Given the description of an element on the screen output the (x, y) to click on. 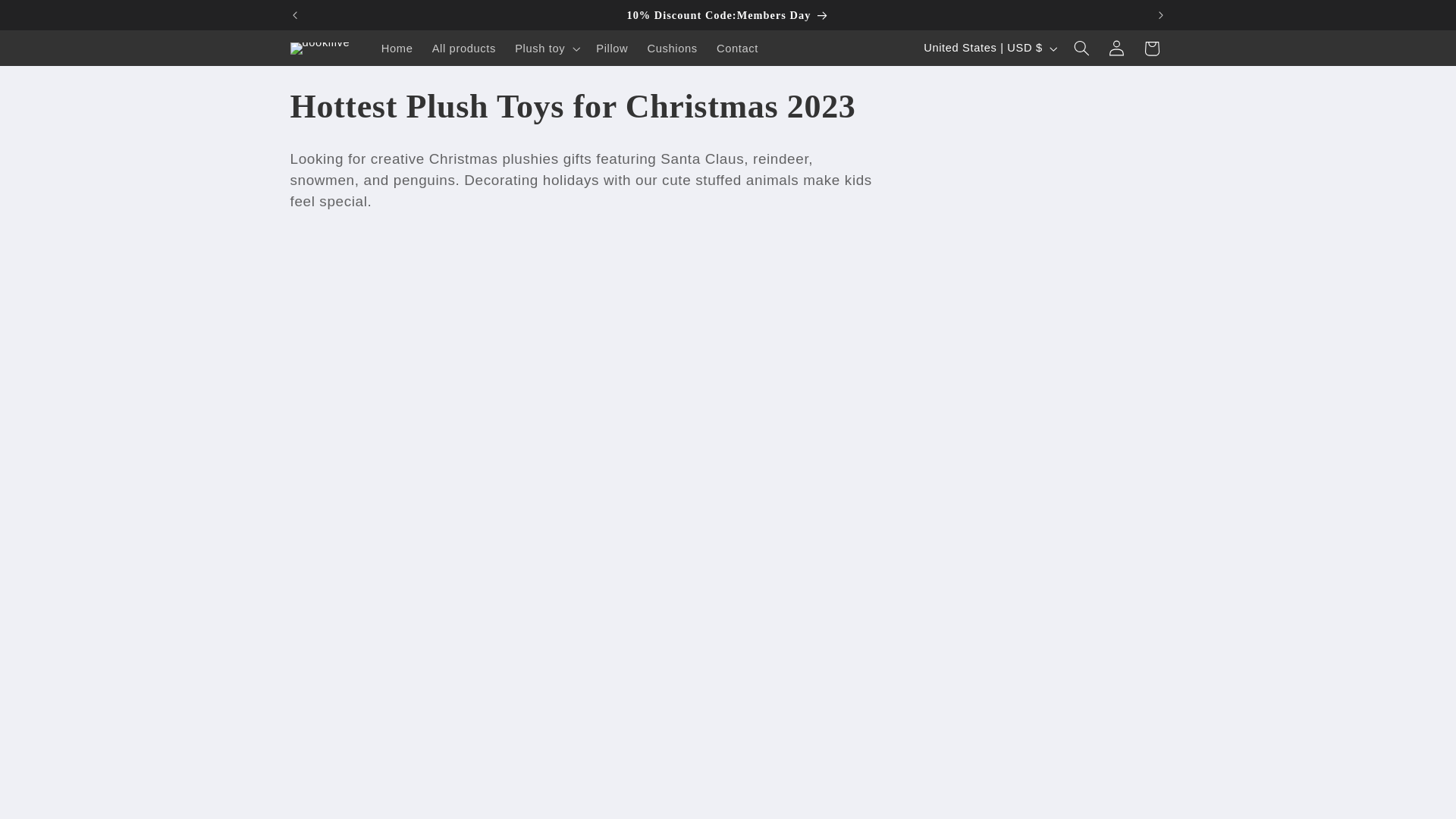
Pillow (611, 48)
Skip to content (48, 18)
Home (396, 48)
All products (463, 48)
